Given the description of an element on the screen output the (x, y) to click on. 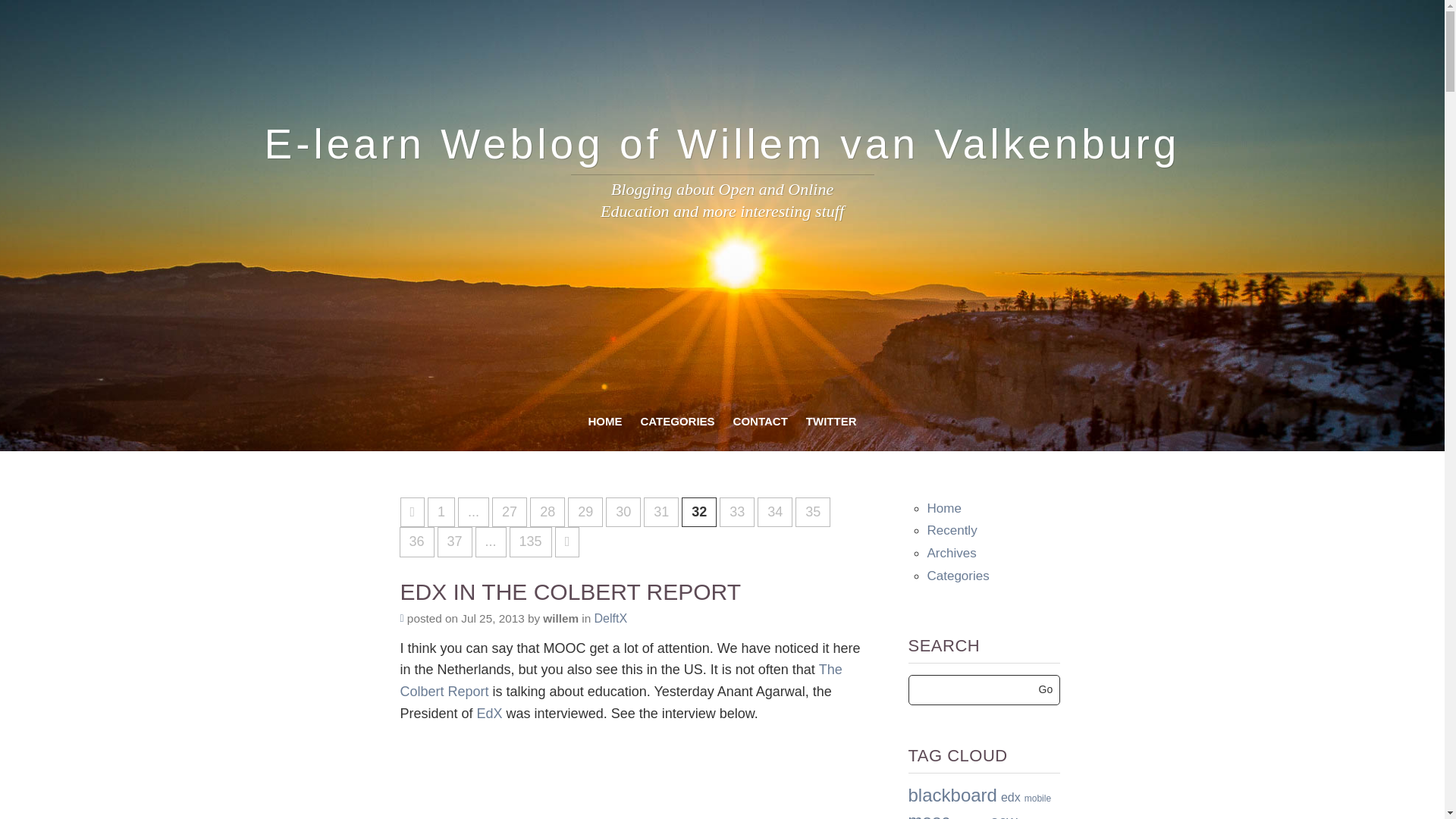
DelftX (610, 617)
... (473, 512)
CATEGORIES (677, 421)
Go (1045, 689)
34 (774, 512)
Go (1045, 689)
1 (441, 512)
27 (509, 512)
CONTACT (759, 421)
EDX IN THE COLBERT REPORT (570, 591)
33 (736, 512)
36 (415, 542)
TWITTER (831, 421)
29 (584, 512)
EdX (489, 713)
